Given the description of an element on the screen output the (x, y) to click on. 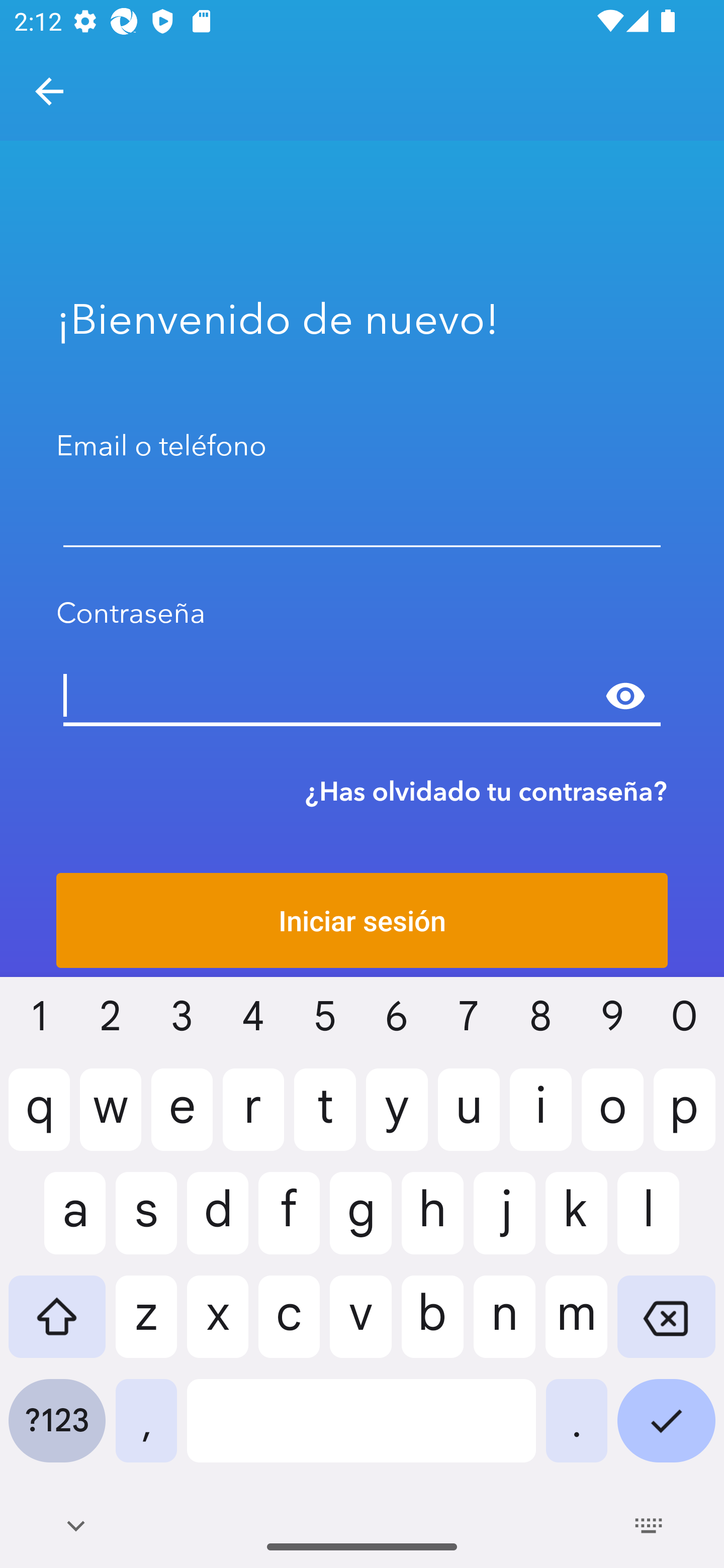
Navegar hacia arriba (49, 91)
Mostrar contraseña (625, 695)
¿Has olvidado tu contraseña? (486, 790)
Iniciar sesión (361, 920)
